Given the description of an element on the screen output the (x, y) to click on. 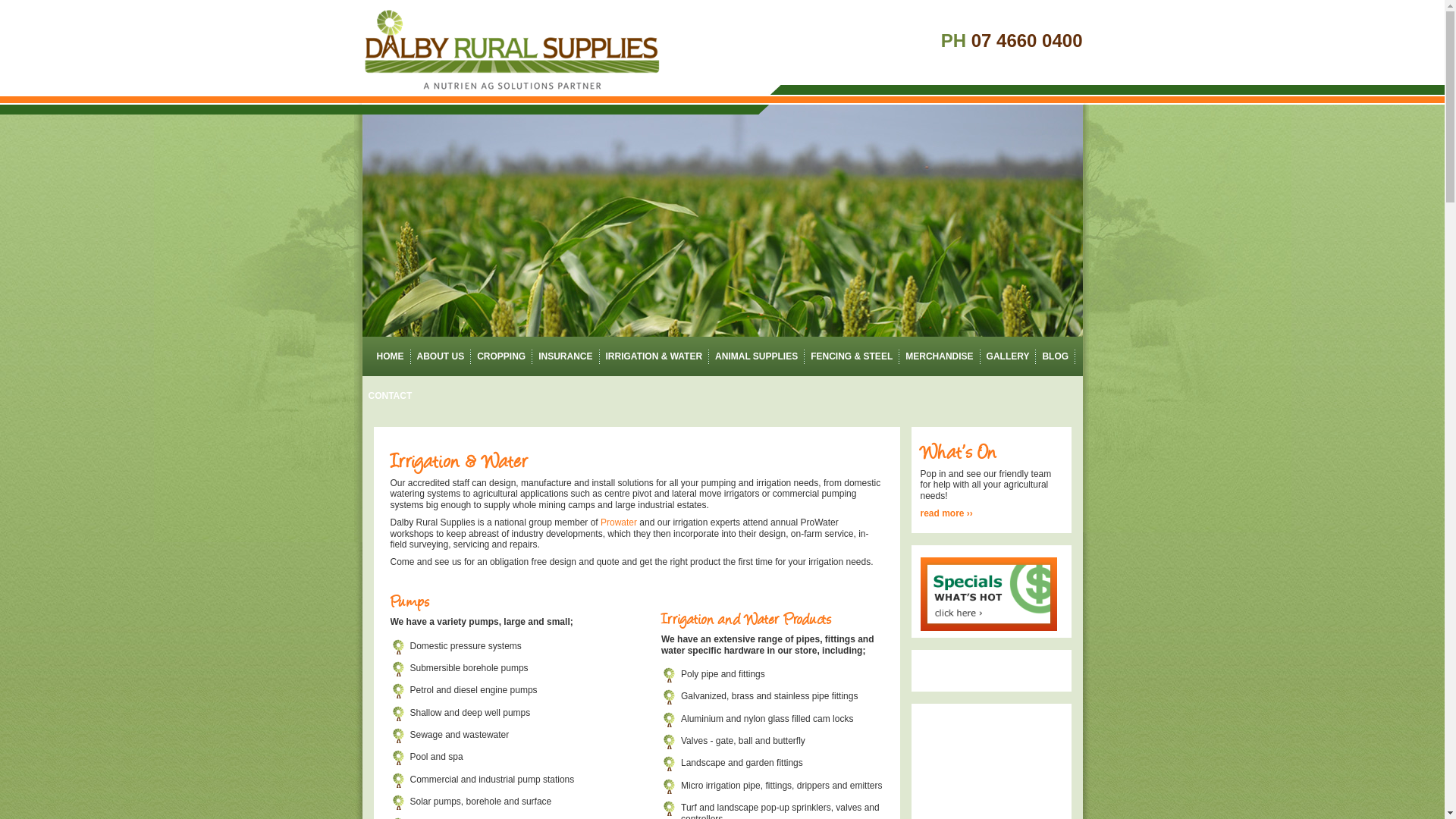
IRRIGATION & WATER Element type: text (654, 356)
BLOG Element type: text (1054, 356)
INSURANCE Element type: text (565, 356)
CROPPING Element type: text (500, 356)
HOME Element type: text (386, 356)
ABOUT US Element type: text (440, 356)
ANIMAL SUPPLIES Element type: text (756, 356)
FENCING & STEEL Element type: text (851, 356)
CONTACT Element type: text (390, 395)
MERCHANDISE Element type: text (939, 356)
GALLERY Element type: text (1007, 356)
Prowater Element type: text (618, 522)
